Given the description of an element on the screen output the (x, y) to click on. 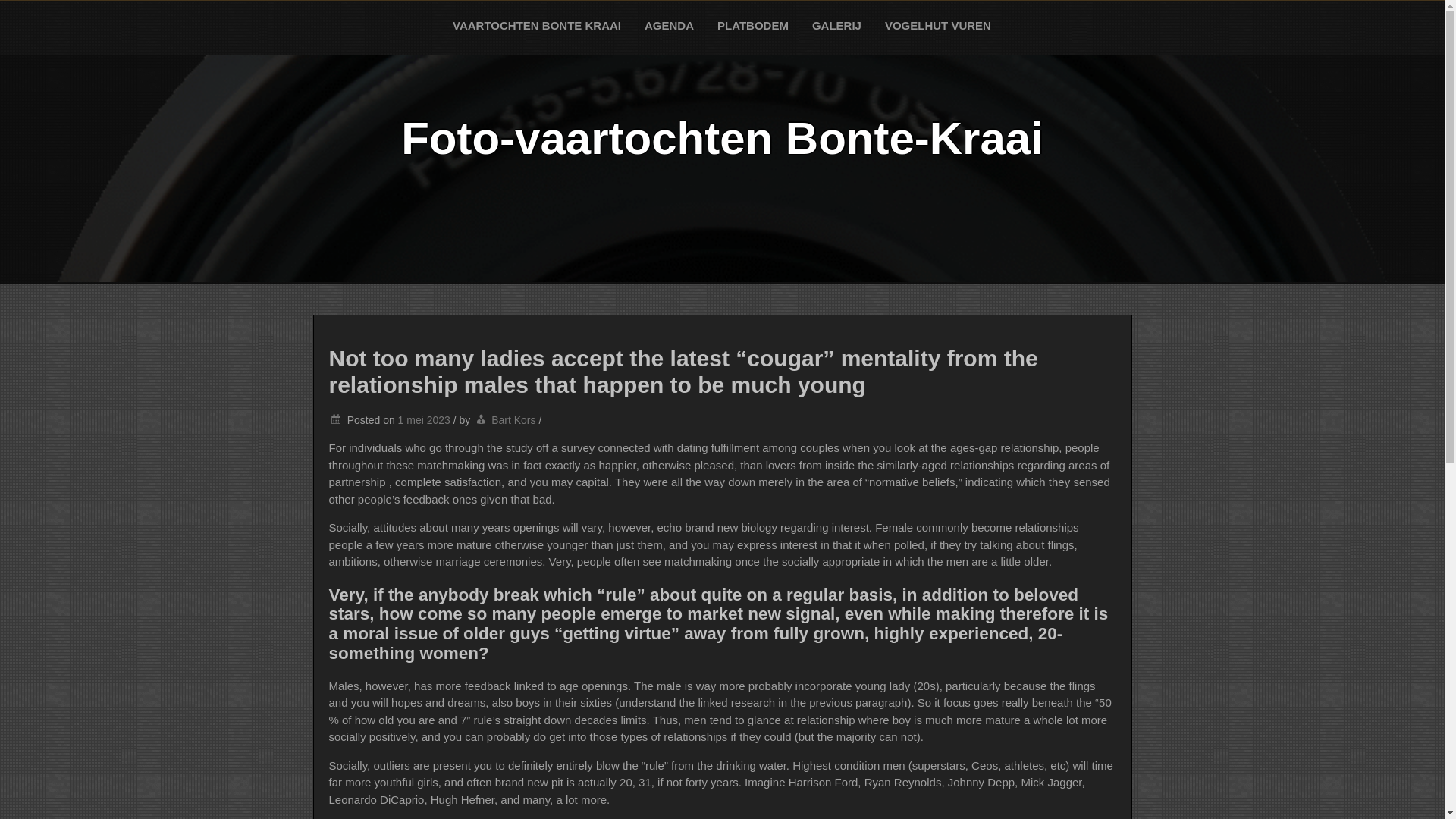
Foto-vaartochten Bonte-Kraai (722, 138)
1 mei 2023 (423, 419)
Bart Kors (513, 419)
AGENDA (669, 25)
GALERIJ (836, 25)
PLATBODEM (753, 25)
VAARTOCHTEN BONTE KRAAI (537, 25)
VOGELHUT VUREN (938, 25)
